Given the description of an element on the screen output the (x, y) to click on. 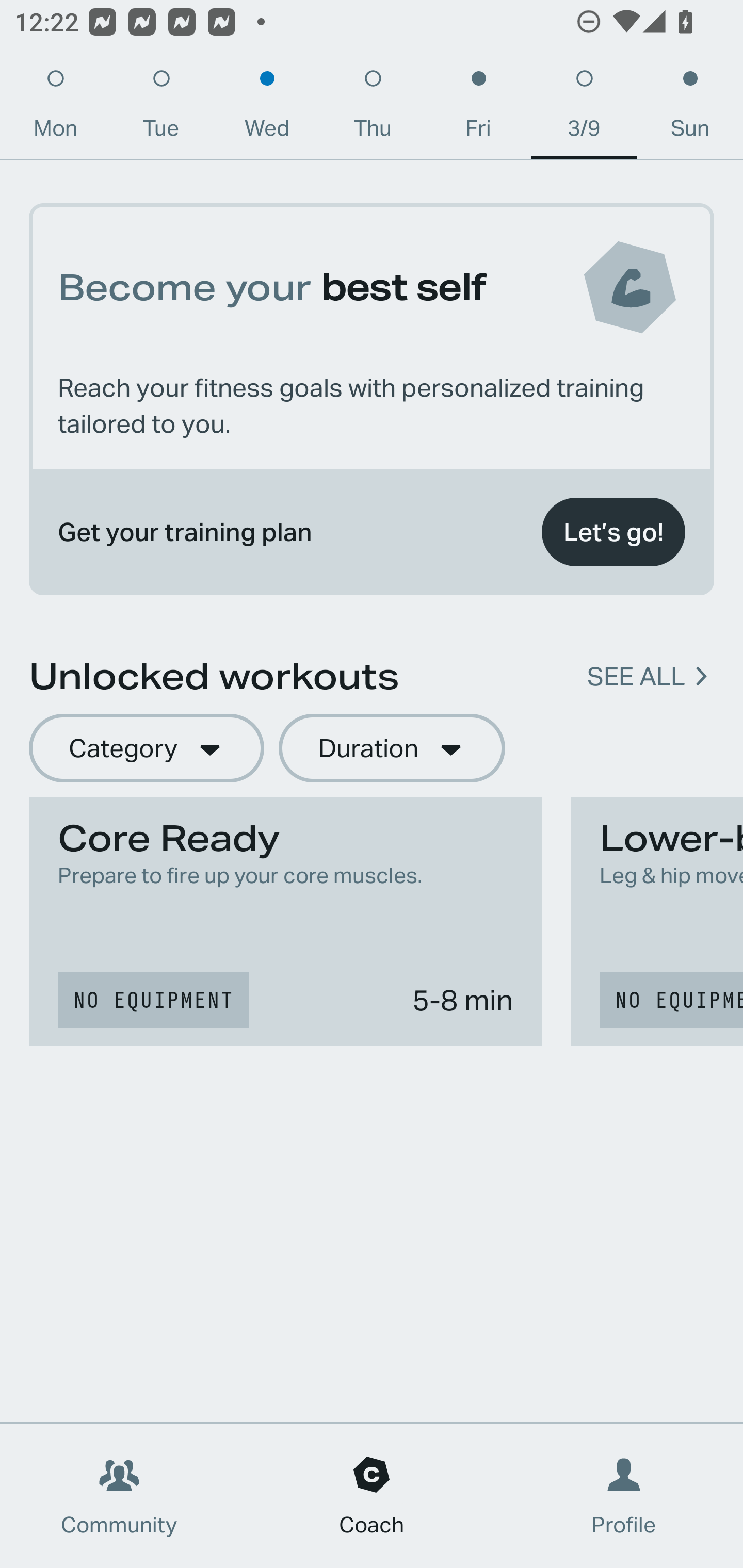
Mon (55, 108)
Tue (160, 108)
Wed (266, 108)
Thu (372, 108)
Fri (478, 108)
3/9 (584, 108)
Sun (690, 108)
Let’s go! (613, 532)
SEE ALL (635, 676)
Category (146, 748)
Duration (391, 748)
Community (119, 1495)
Profile (624, 1495)
